Given the description of an element on the screen output the (x, y) to click on. 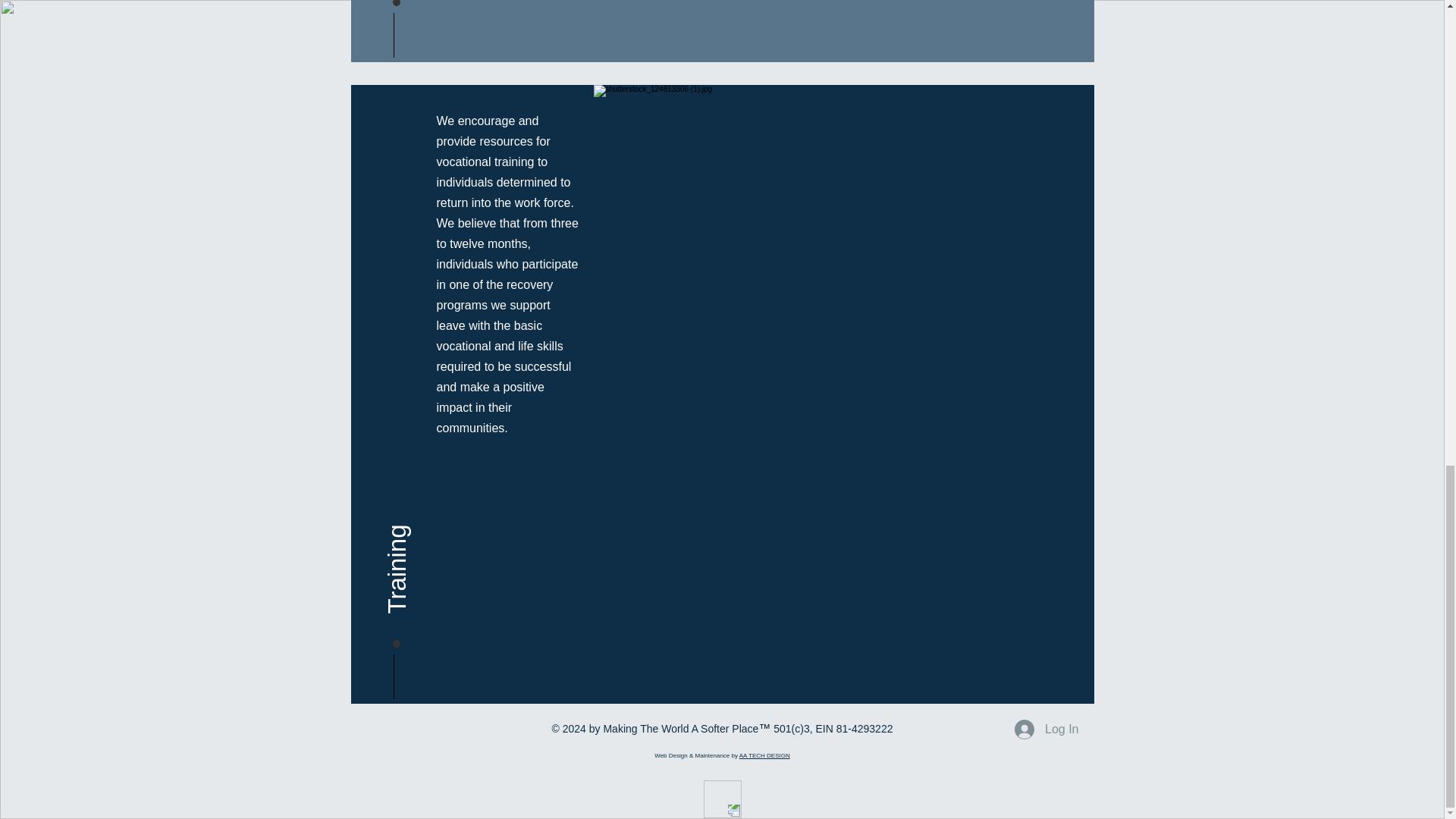
AA TECH DESIGN (764, 755)
Log In (1046, 728)
